Given the description of an element on the screen output the (x, y) to click on. 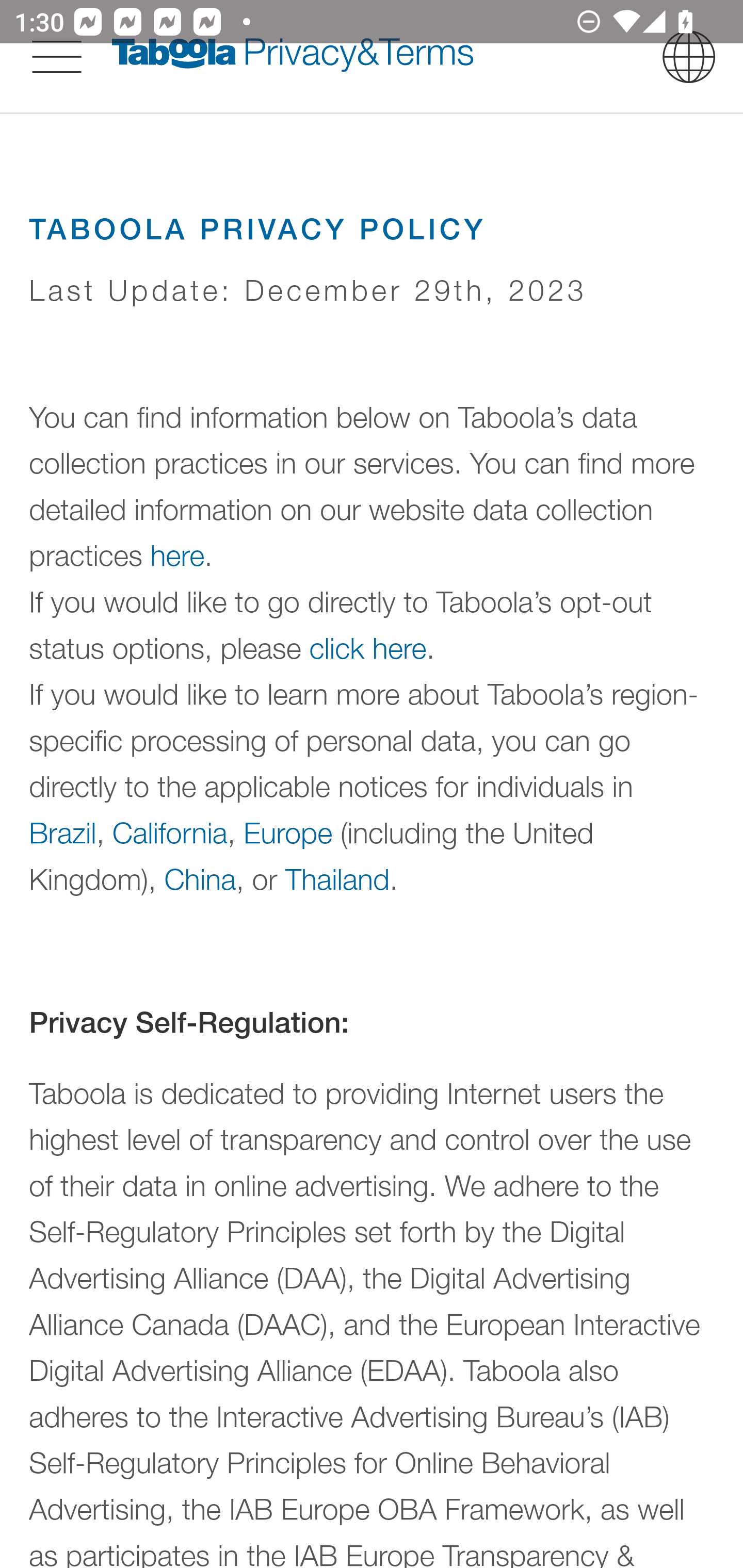
Taboola Privacy & Terms Logo (292, 56)
English (688, 56)
here (177, 555)
click here (367, 648)
Brazil (62, 831)
California (170, 831)
Europe (287, 831)
China (199, 878)
Thailand (337, 878)
